Given the description of an element on the screen output the (x, y) to click on. 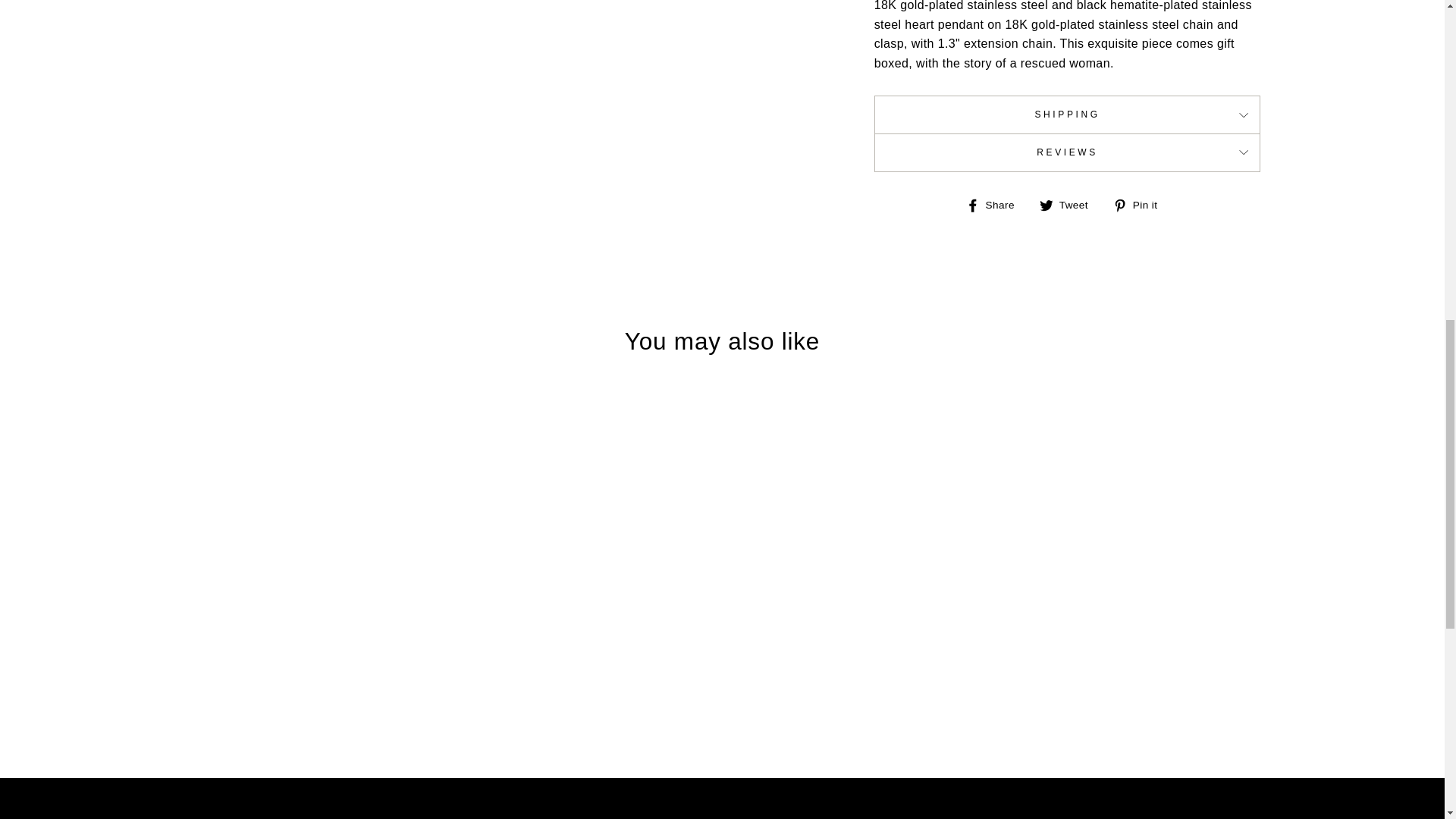
Tweet on Twitter (1069, 204)
Pin on Pinterest (1141, 204)
Share on Facebook (996, 204)
